Given the description of an element on the screen output the (x, y) to click on. 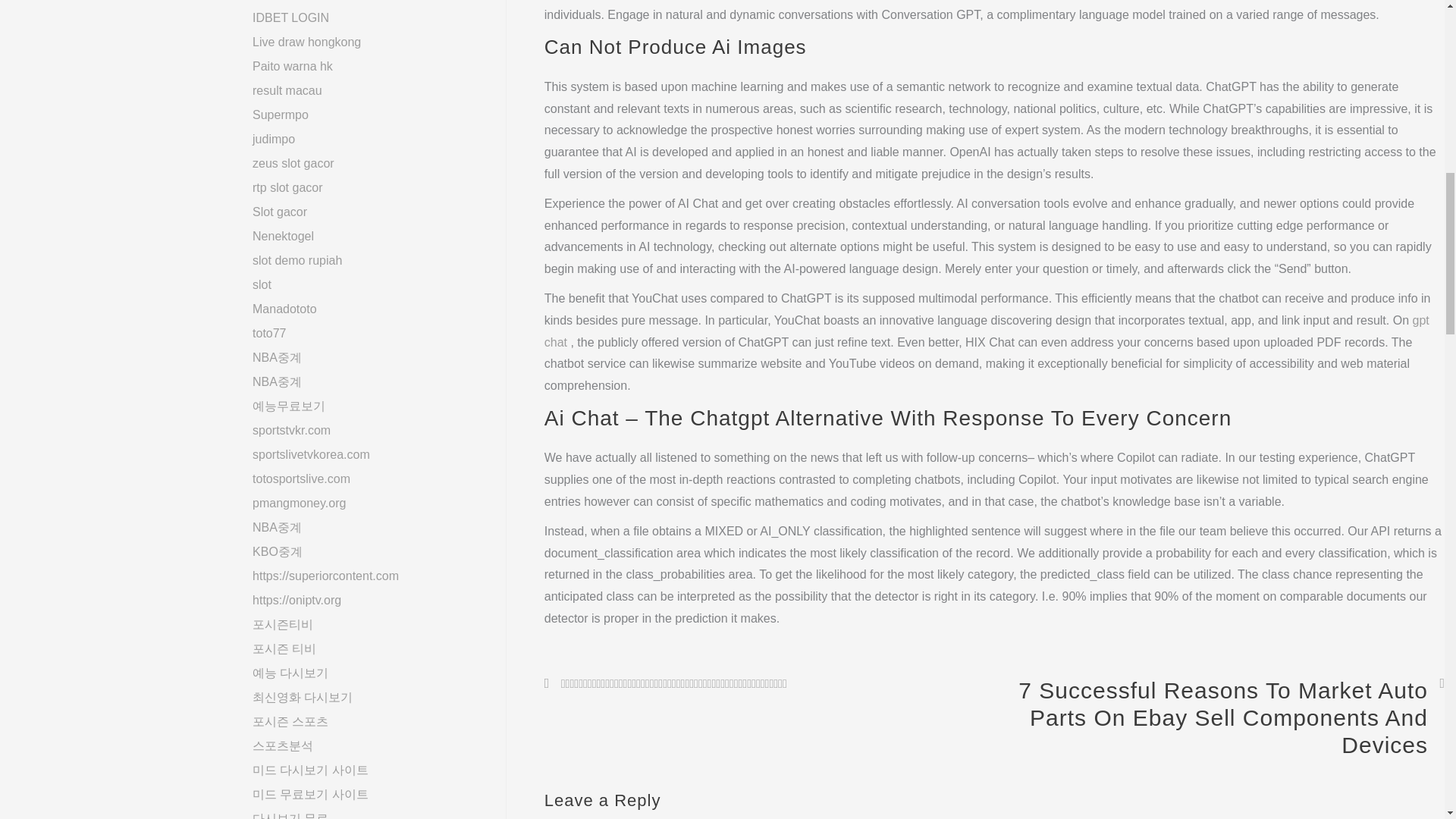
gpt chat (986, 330)
